Given the description of an element on the screen output the (x, y) to click on. 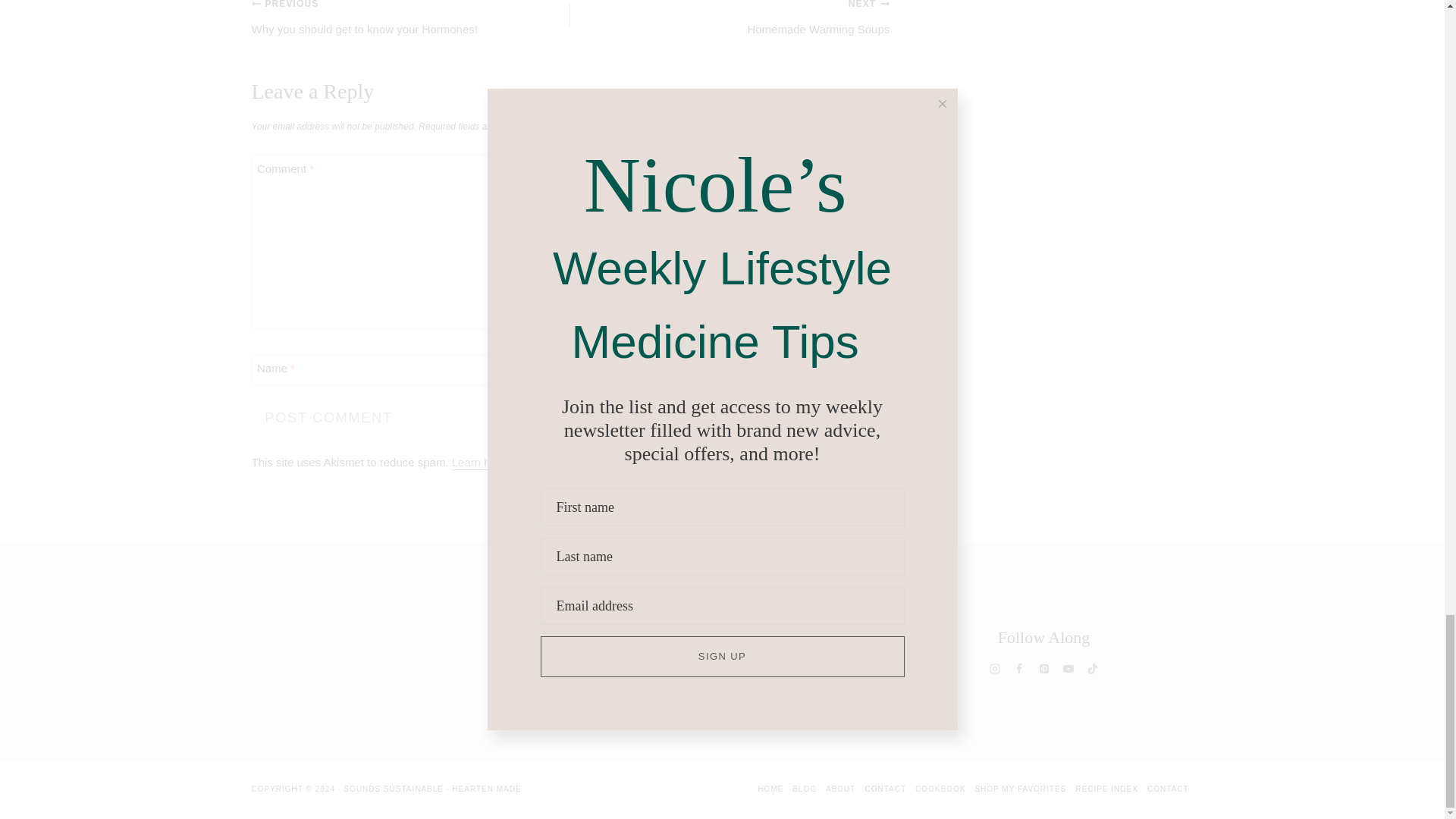
Post Comment (328, 418)
